Given the description of an element on the screen output the (x, y) to click on. 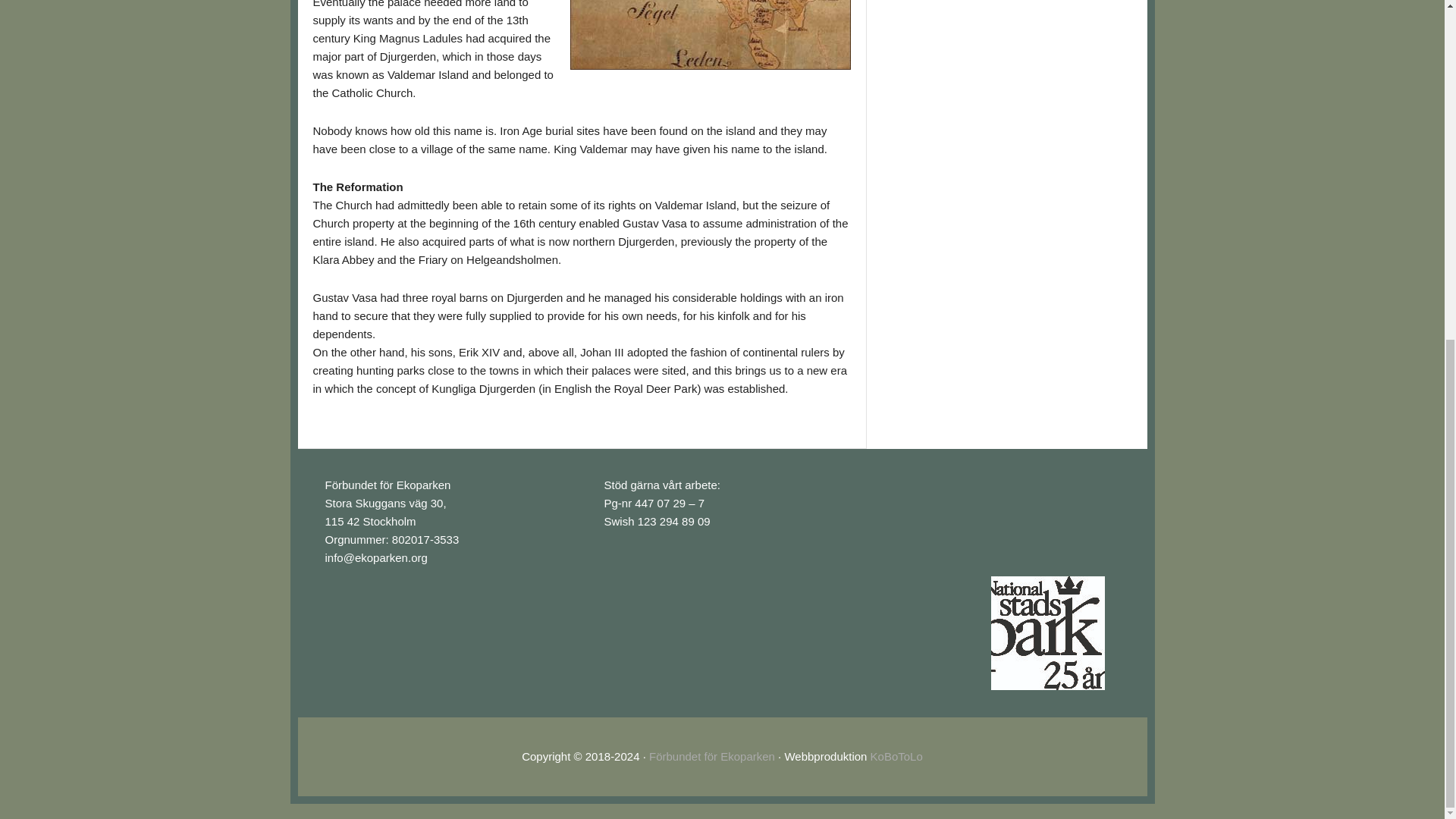
KoBoToLo (896, 756)
KoBoToLo (896, 756)
